Given the description of an element on the screen output the (x, y) to click on. 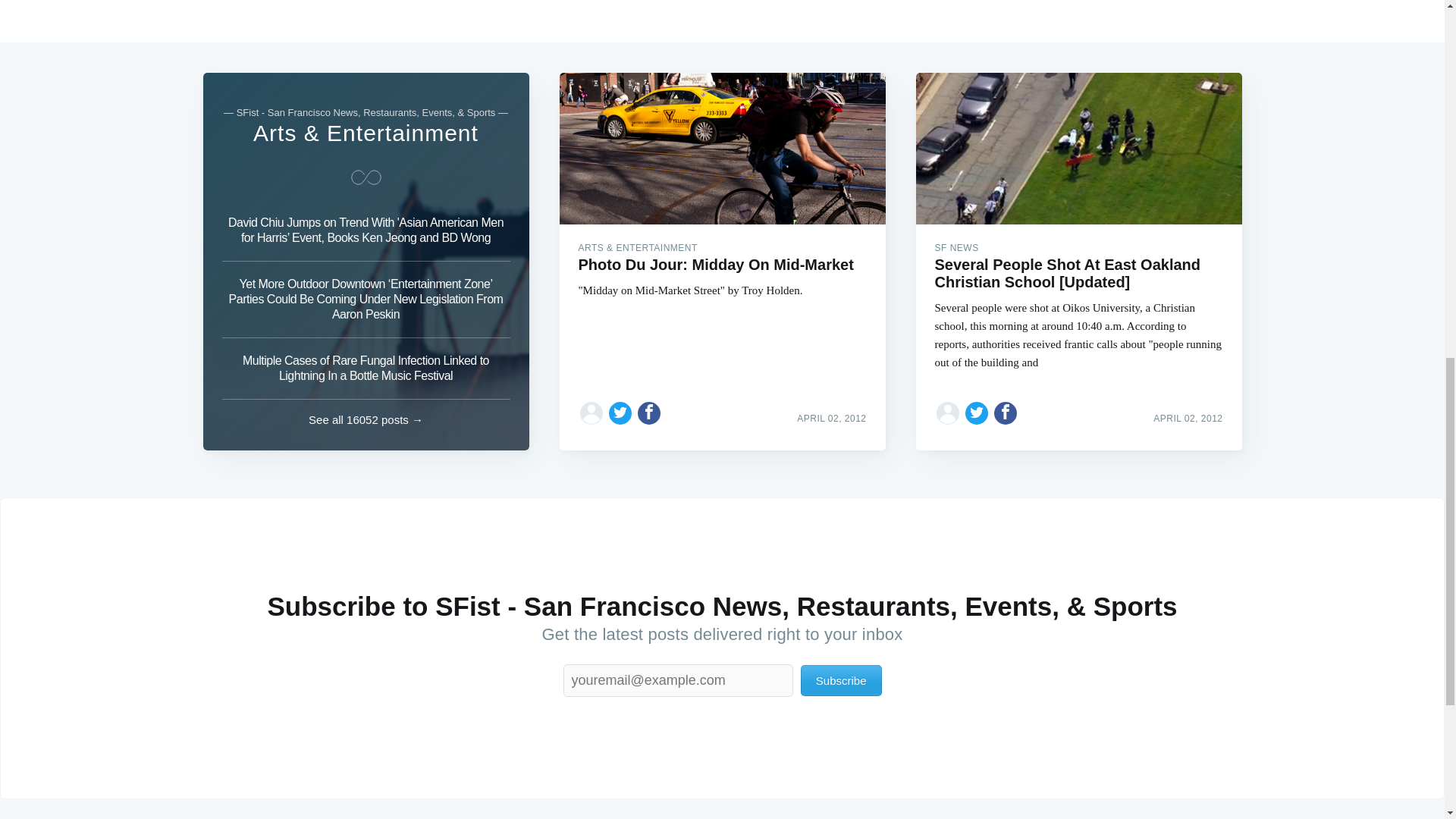
Share on Twitter (976, 412)
Subscribe (841, 680)
Share on Facebook (1004, 412)
Share on Twitter (620, 412)
Share on Facebook (649, 412)
